Given the description of an element on the screen output the (x, y) to click on. 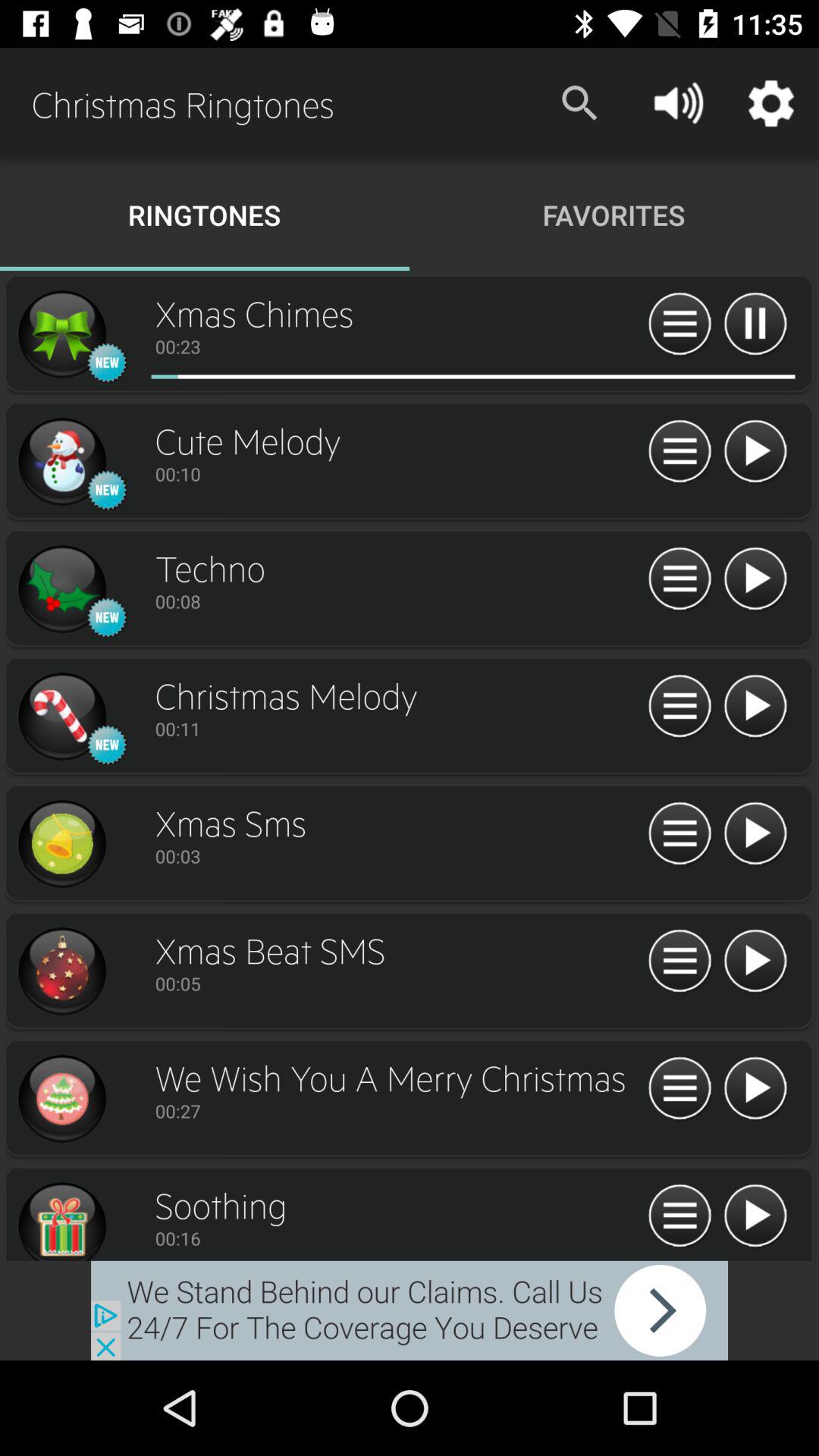
ringtone picture (61, 462)
